Given the description of an element on the screen output the (x, y) to click on. 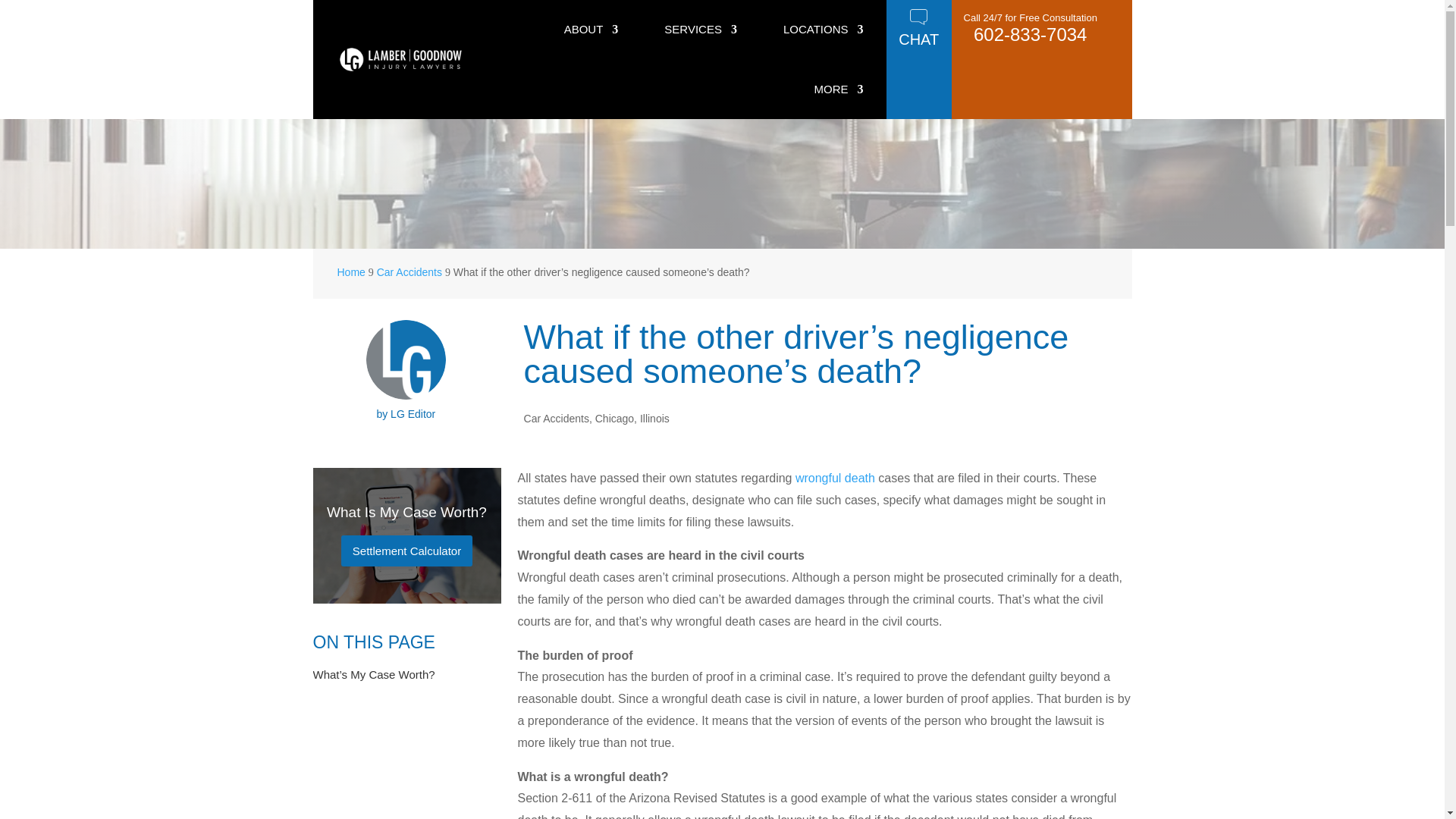
SERVICES (699, 29)
portrait-square-10 (405, 359)
ABOUT (591, 29)
Posts by LG Editor (412, 413)
